Given the description of an element on the screen output the (x, y) to click on. 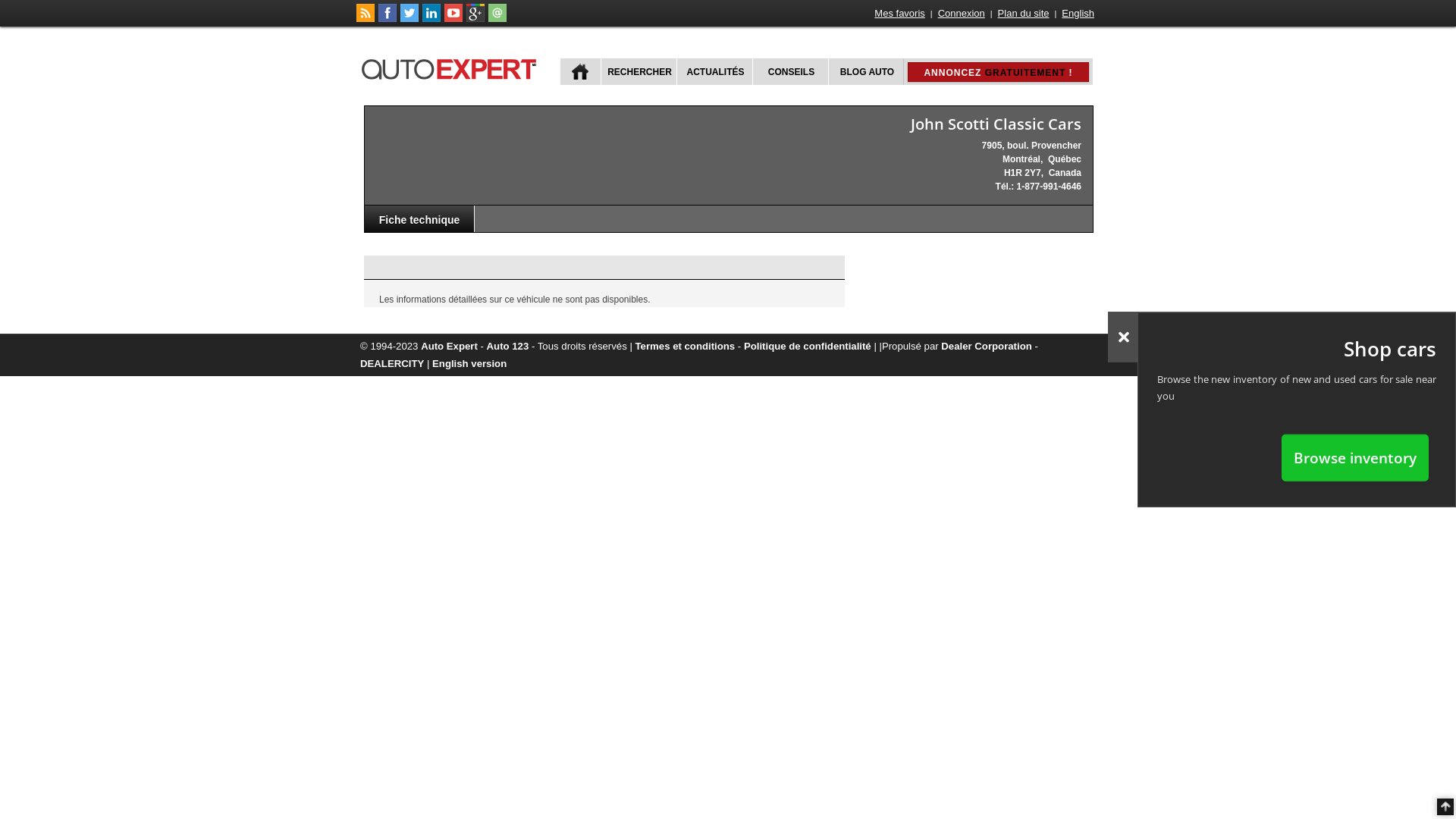
Dealer Corporation Element type: text (986, 345)
Browse inventory Element type: text (1354, 457)
Auto Expert Element type: text (448, 345)
Suivez autoExpert.ca sur Facebook Element type: hover (387, 18)
Plan du site Element type: text (1023, 13)
Auto 123 Element type: text (507, 345)
Termes et conditions Element type: text (685, 345)
ACCUEIL Element type: text (580, 71)
CONSEILS Element type: text (789, 71)
Connexion Element type: text (961, 13)
BLOG AUTO Element type: text (865, 71)
RECHERCHER Element type: text (637, 71)
Suivez autoExpert.ca sur Youtube Element type: hover (453, 18)
English version Element type: text (469, 363)
Fiche technique Element type: text (419, 218)
Suivez Publications Le Guide Inc. sur LinkedIn Element type: hover (431, 18)
Mes favoris Element type: text (898, 13)
Suivez autoExpert.ca sur Twitter Element type: hover (409, 18)
English Element type: text (1077, 13)
Joindre autoExpert.ca Element type: hover (497, 18)
Suivez autoExpert.ca sur Google Plus Element type: hover (475, 18)
ANNONCEZ GRATUITEMENT ! Element type: text (997, 71)
DEALERCITY Element type: text (391, 363)
autoExpert.ca Element type: text (451, 66)
